Given the description of an element on the screen output the (x, y) to click on. 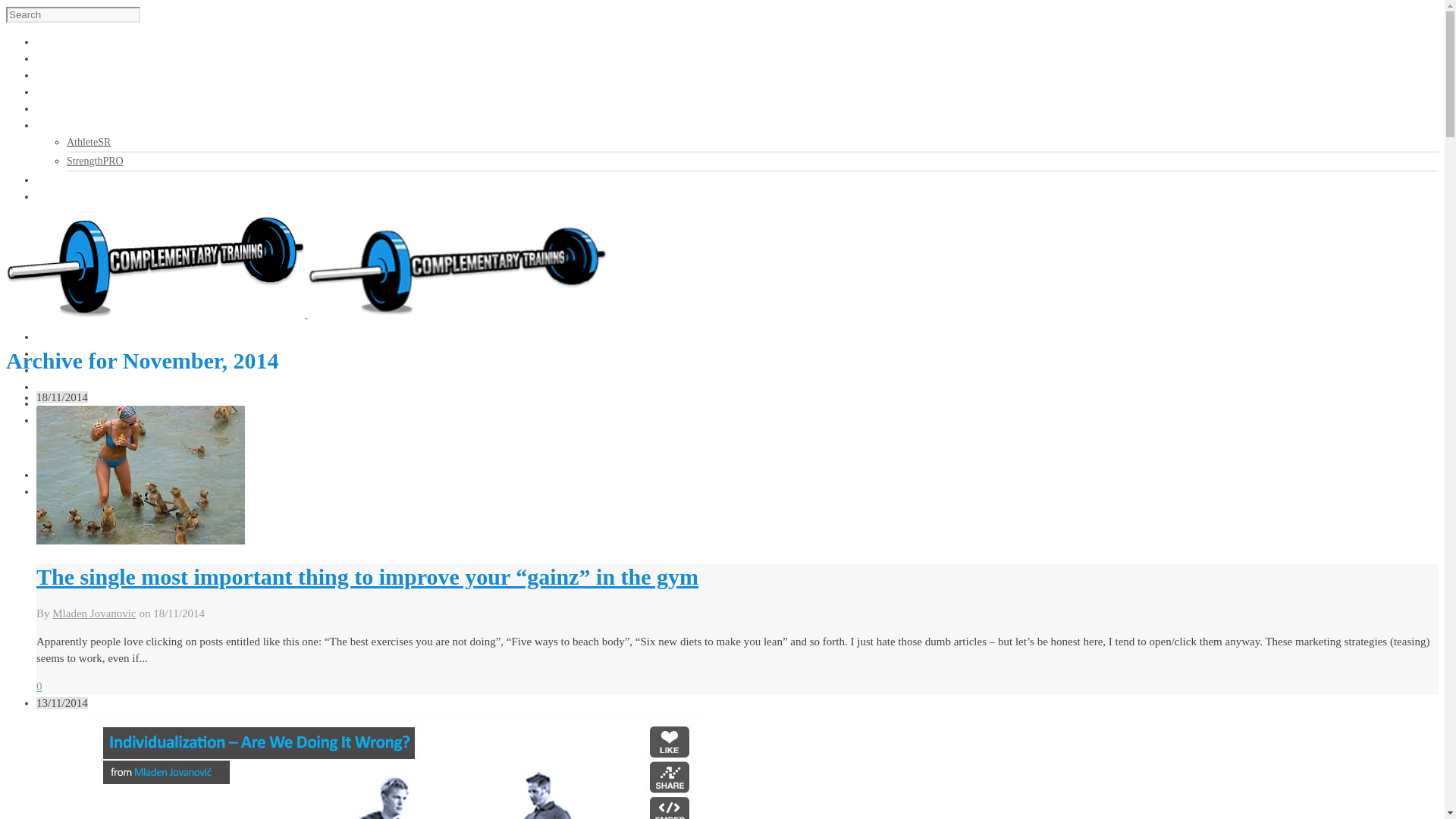
AthleteSR (88, 142)
Become a Member (76, 196)
Forum (50, 403)
Become a Member (76, 491)
Apps (47, 419)
Store (47, 369)
CT Sports Job Board (45, 387)
CT Sports Job Board (45, 91)
StrengthPRO (94, 161)
Courses (52, 58)
